Given the description of an element on the screen output the (x, y) to click on. 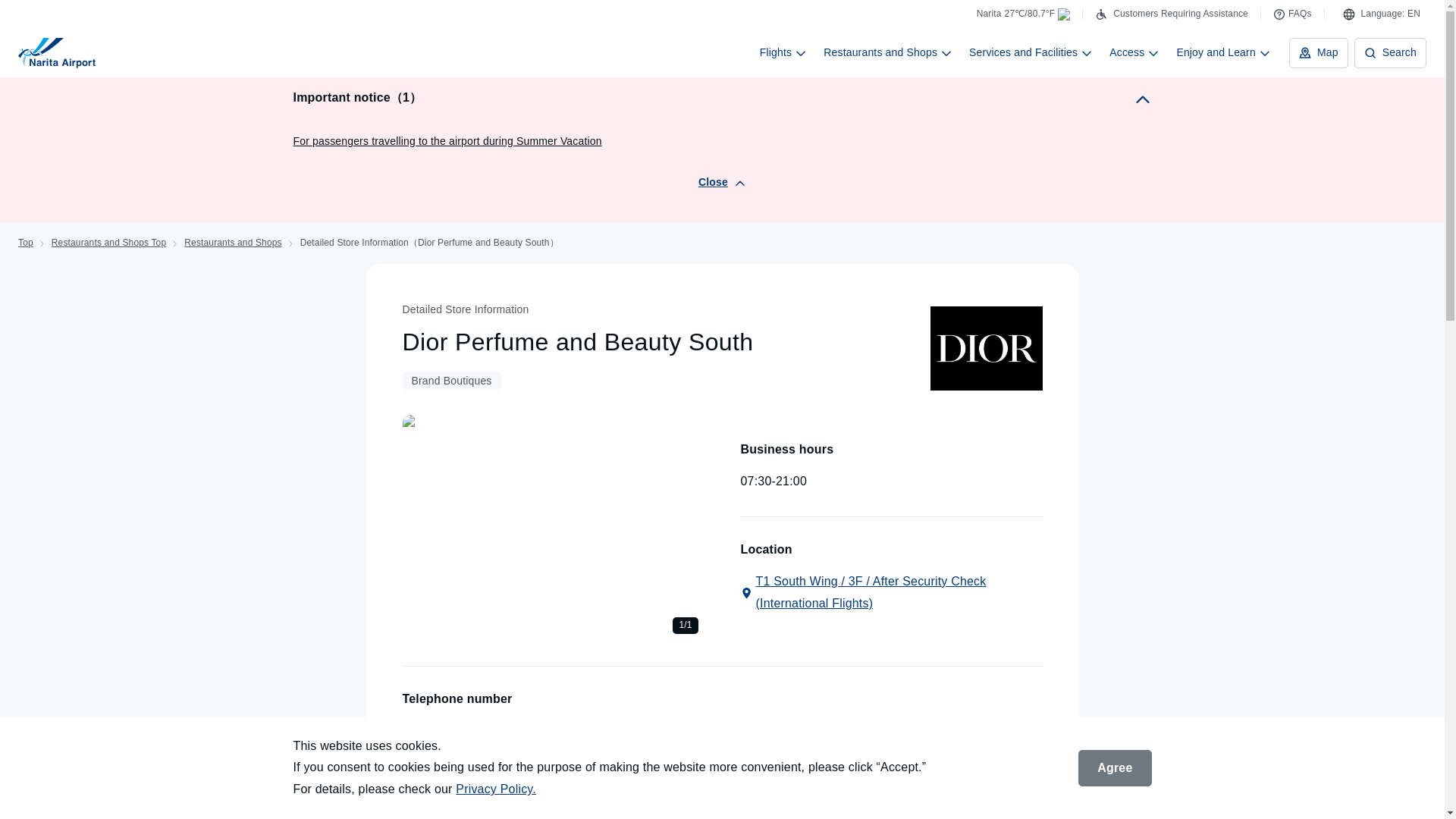
Customers Requiring Assistance (1170, 13)
Top (25, 243)
Access (1134, 52)
Restaurants and Shops (232, 243)
Open map (890, 592)
Enjoy and Learn (1223, 52)
Close (721, 182)
Search (1390, 52)
Language: EN (1381, 14)
